Given the description of an element on the screen output the (x, y) to click on. 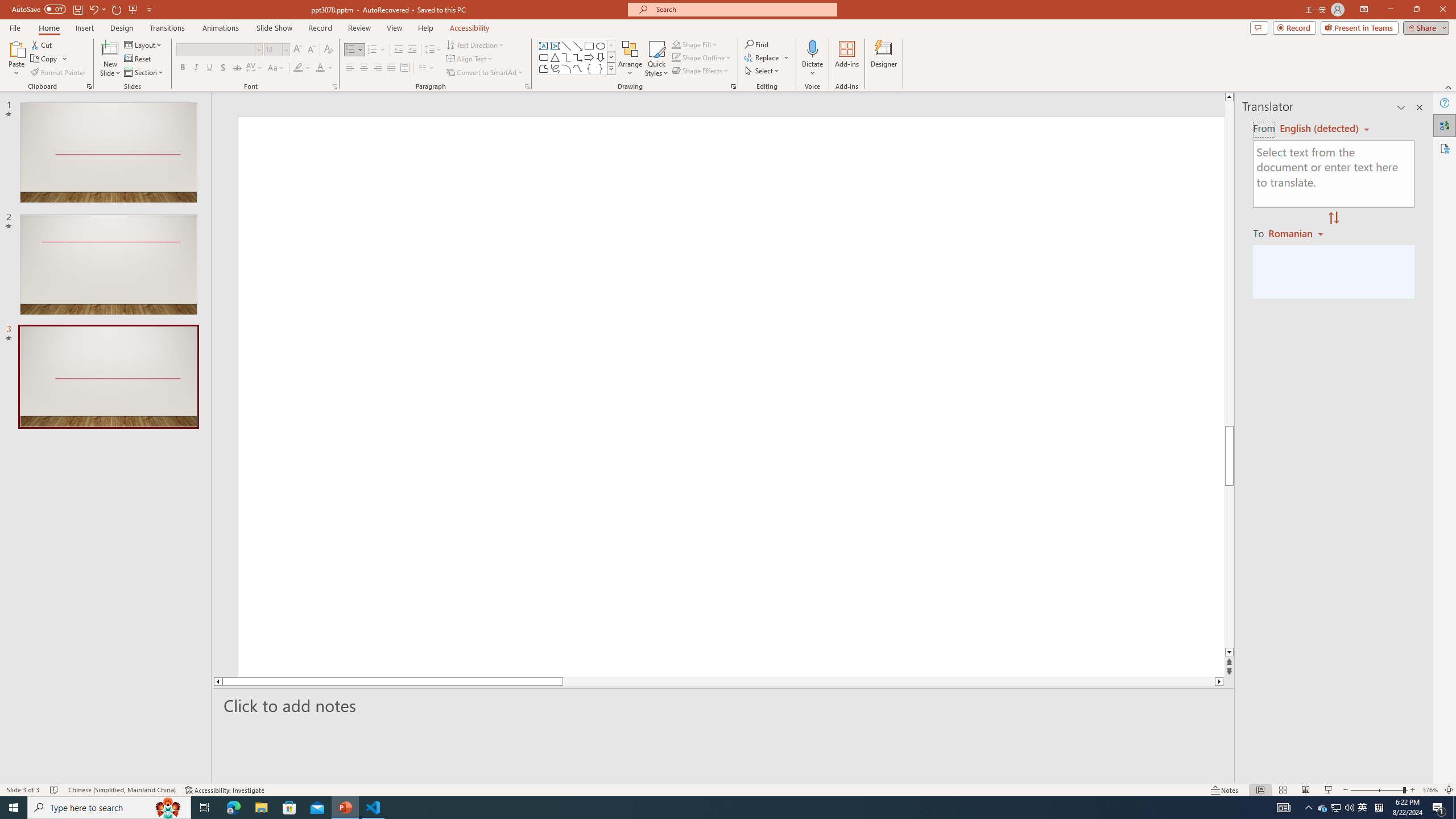
Romanian (1296, 232)
